Given the description of an element on the screen output the (x, y) to click on. 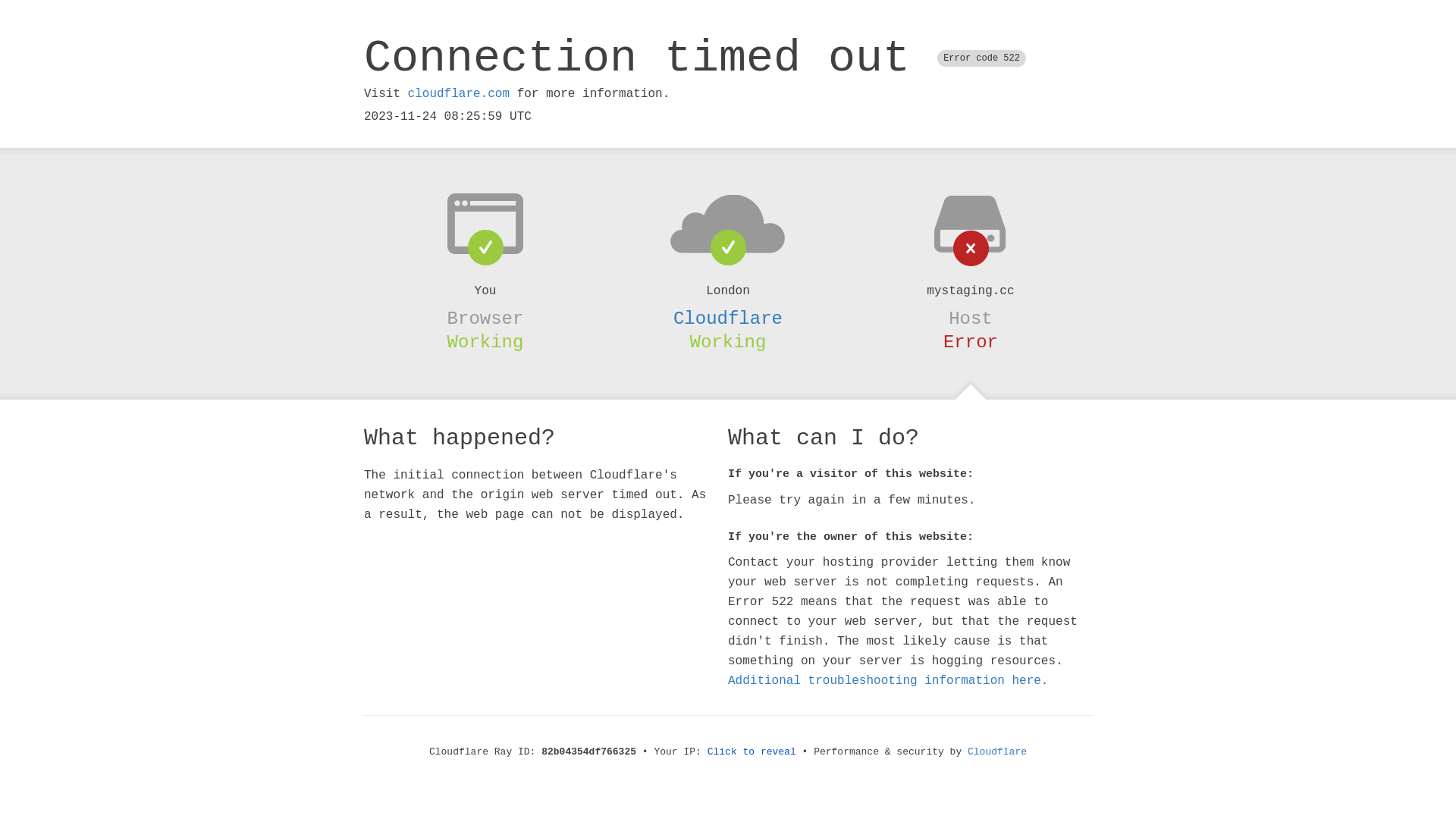
Click to reveal Element type: text (751, 751)
cloudflare.com Element type: text (458, 93)
Cloudflare Element type: text (996, 751)
Additional troubleshooting information here. Element type: text (888, 680)
Cloudflare Element type: text (727, 318)
